Given the description of an element on the screen output the (x, y) to click on. 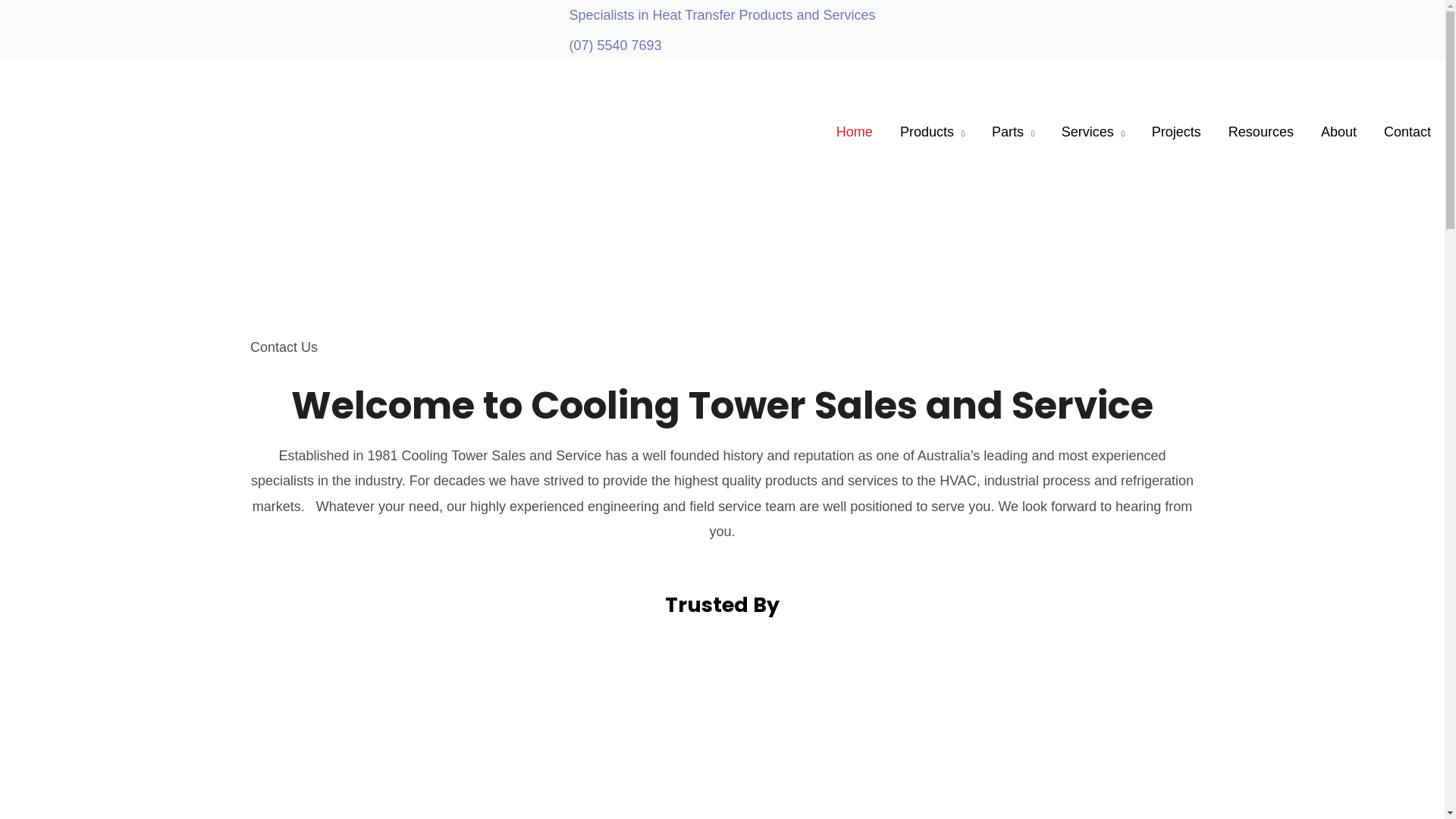
Home Element type: text (854, 131)
Contact Us Element type: text (283, 346)
About Element type: text (1338, 131)
Resources Element type: text (1260, 131)
Services Element type: text (1093, 131)
Contact Element type: text (1407, 131)
Products Element type: text (932, 131)
(07) 5540 7693 Element type: text (614, 45)
Parts Element type: text (1013, 131)
Projects Element type: text (1176, 131)
